Given the description of an element on the screen output the (x, y) to click on. 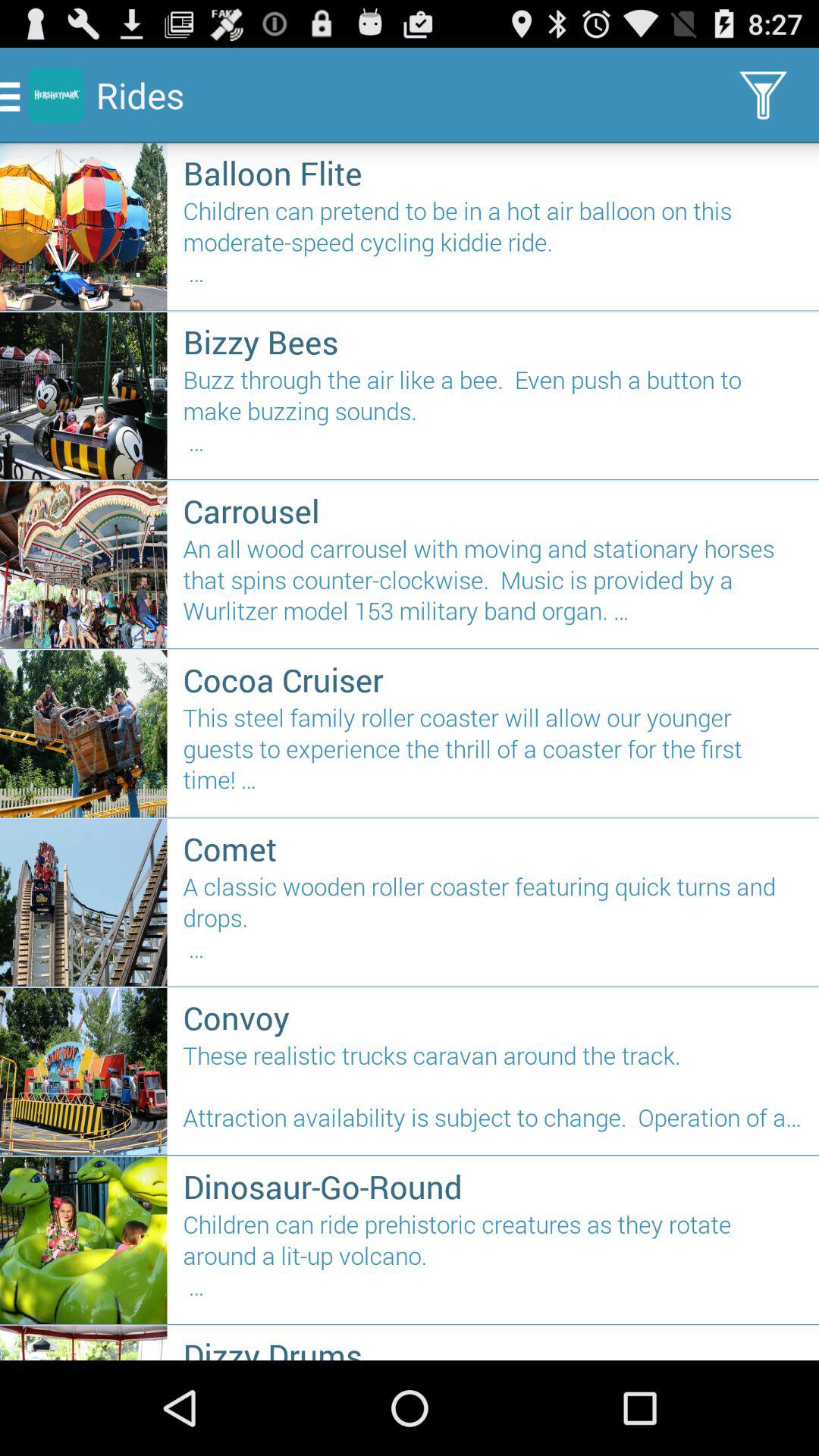
open icon above the comet item (493, 755)
